Given the description of an element on the screen output the (x, y) to click on. 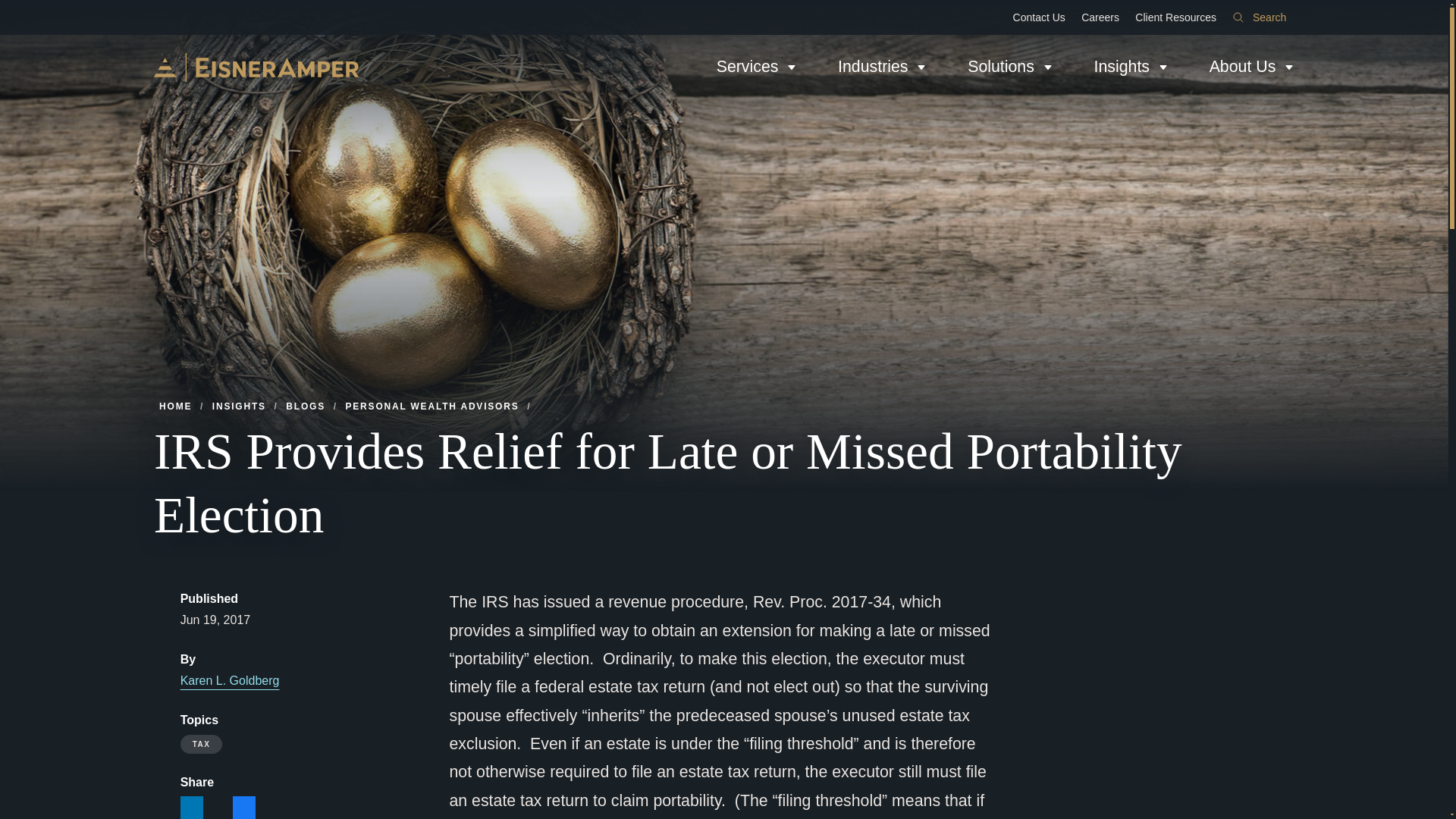
Search (1259, 17)
Careers (1100, 17)
Skip to content (12, 6)
Client Resources (1175, 17)
EisnerAmper Home (256, 67)
Contact Us (1039, 17)
